Given the description of an element on the screen output the (x, y) to click on. 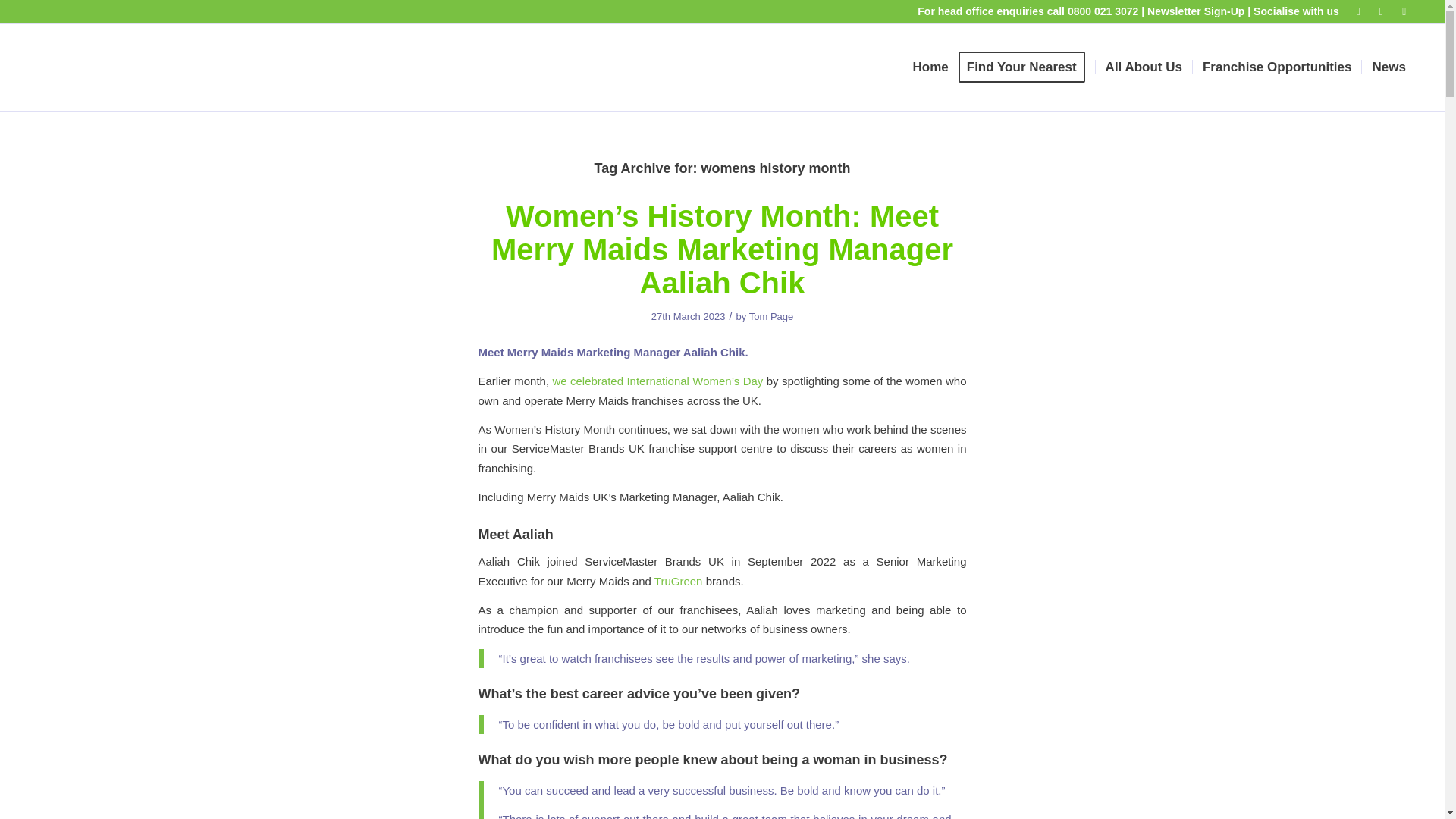
Franchise Opportunities (1276, 67)
All About Us (1143, 67)
LinkedIn (1380, 11)
Newsletter Sign-Up (1195, 10)
Posts by Tom Page (771, 316)
Instagram (1404, 11)
Facebook (1359, 11)
Find Your Nearest (1026, 67)
